Given the description of an element on the screen output the (x, y) to click on. 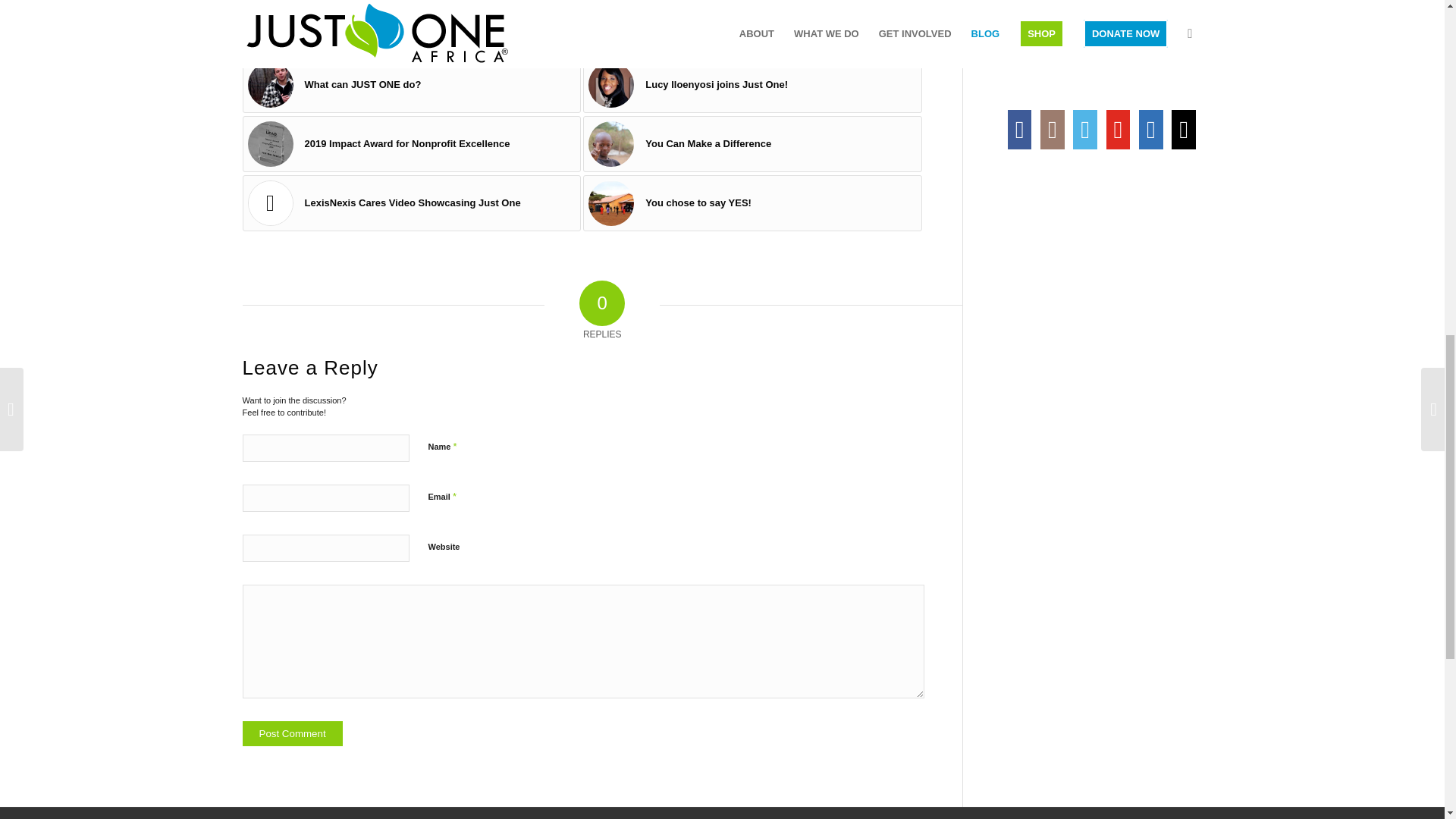
2019 Impact Award for Nonprofit Excellence (411, 143)
brian-grasso-just-one (269, 84)
Lucy Iloenyosi joins Just One! (752, 84)
Post Comment (292, 733)
lucy-iloenyosi (610, 84)
What can JUST ONE do? (411, 84)
